Given the description of an element on the screen output the (x, y) to click on. 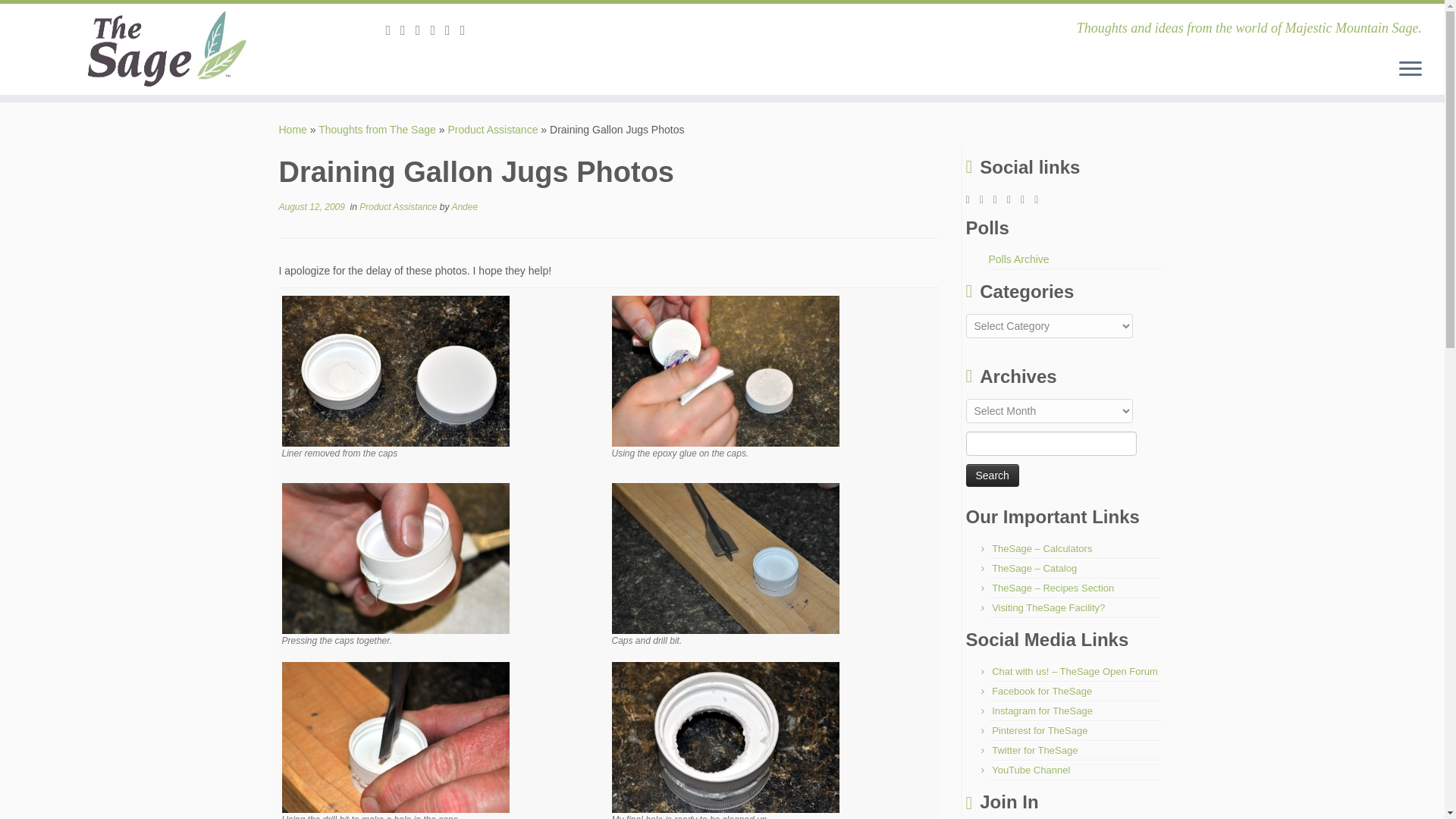
Thoughts from The Sage (376, 129)
Follow me on Facebook (437, 29)
August 12, 2009 (312, 206)
Product Assistance (399, 206)
E-mail (407, 29)
Thoughts from The Sage (376, 129)
Follow me on Instagram (452, 29)
Product Assistance (491, 129)
Subscribe to my rss feed (392, 29)
Follow me on Twitter (422, 29)
Search (992, 475)
View all posts by Andee (464, 206)
Product Assistance (491, 129)
Search (992, 475)
Adventures With The Sage (293, 129)
